Given the description of an element on the screen output the (x, y) to click on. 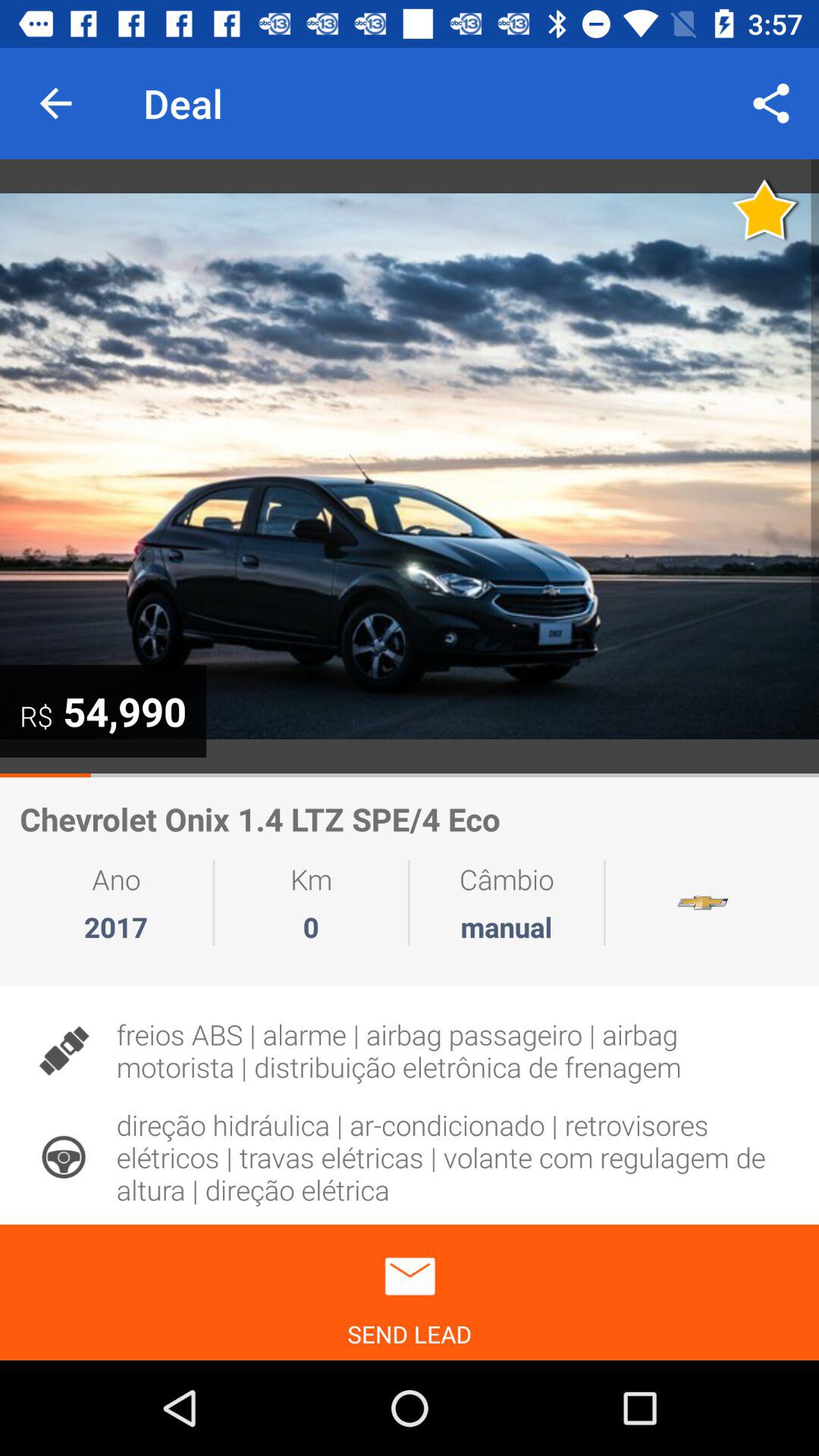
tap the icon to the right of the deal item (771, 103)
